Given the description of an element on the screen output the (x, y) to click on. 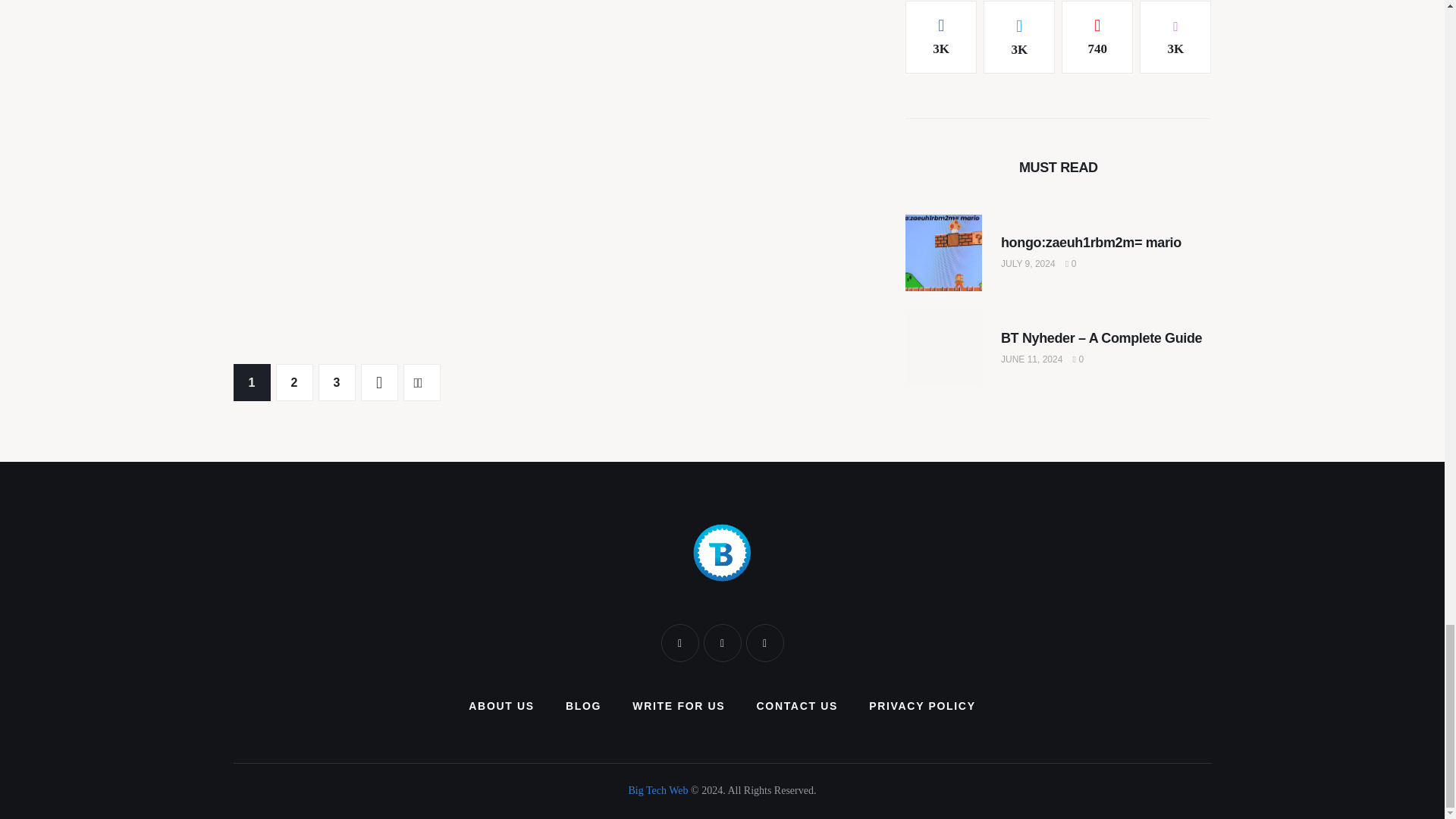
Last page (422, 382)
Next page (379, 382)
